Given the description of an element on the screen output the (x, y) to click on. 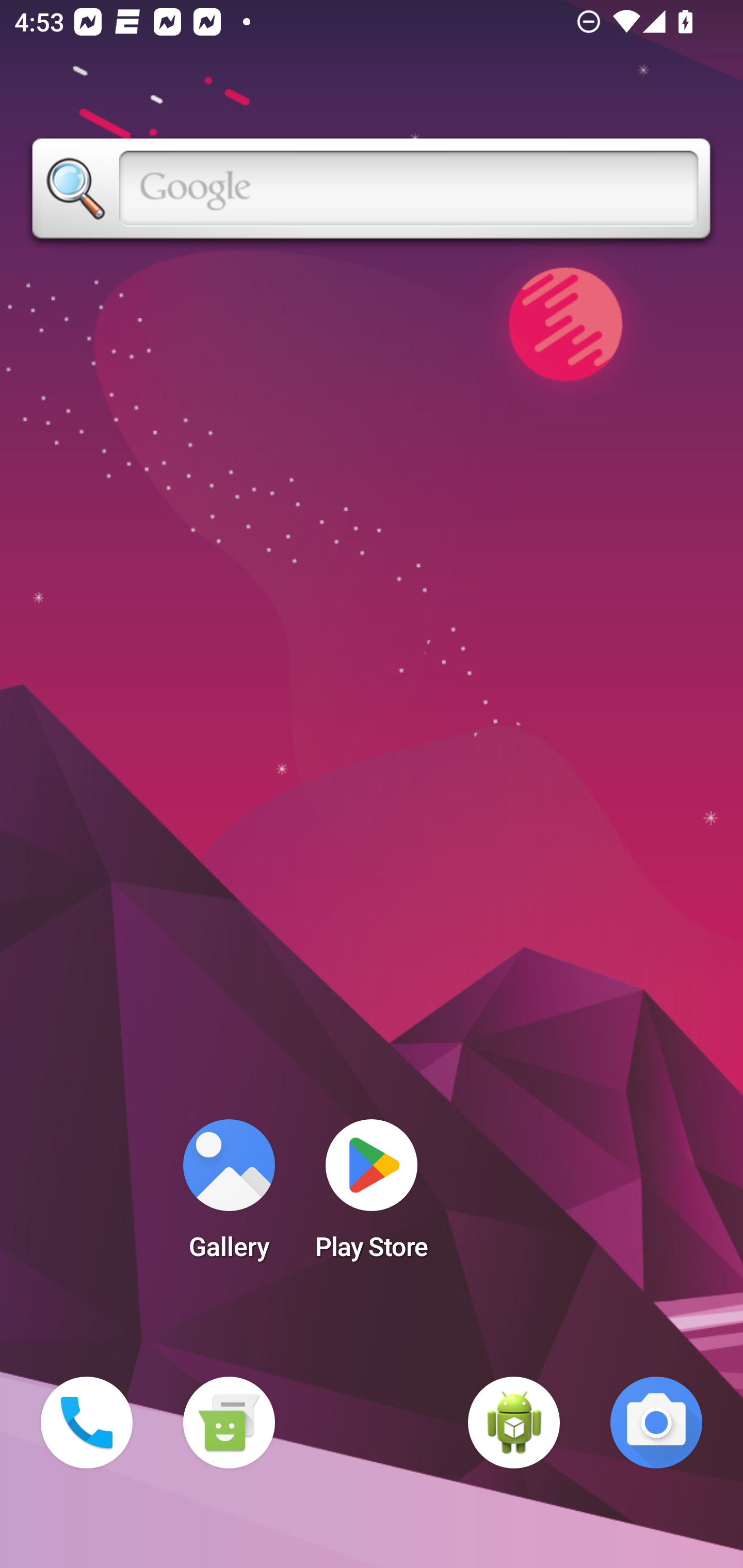
Gallery (228, 1195)
Play Store (371, 1195)
Phone (86, 1422)
Messaging (228, 1422)
WebView Browser Tester (513, 1422)
Camera (656, 1422)
